Given the description of an element on the screen output the (x, y) to click on. 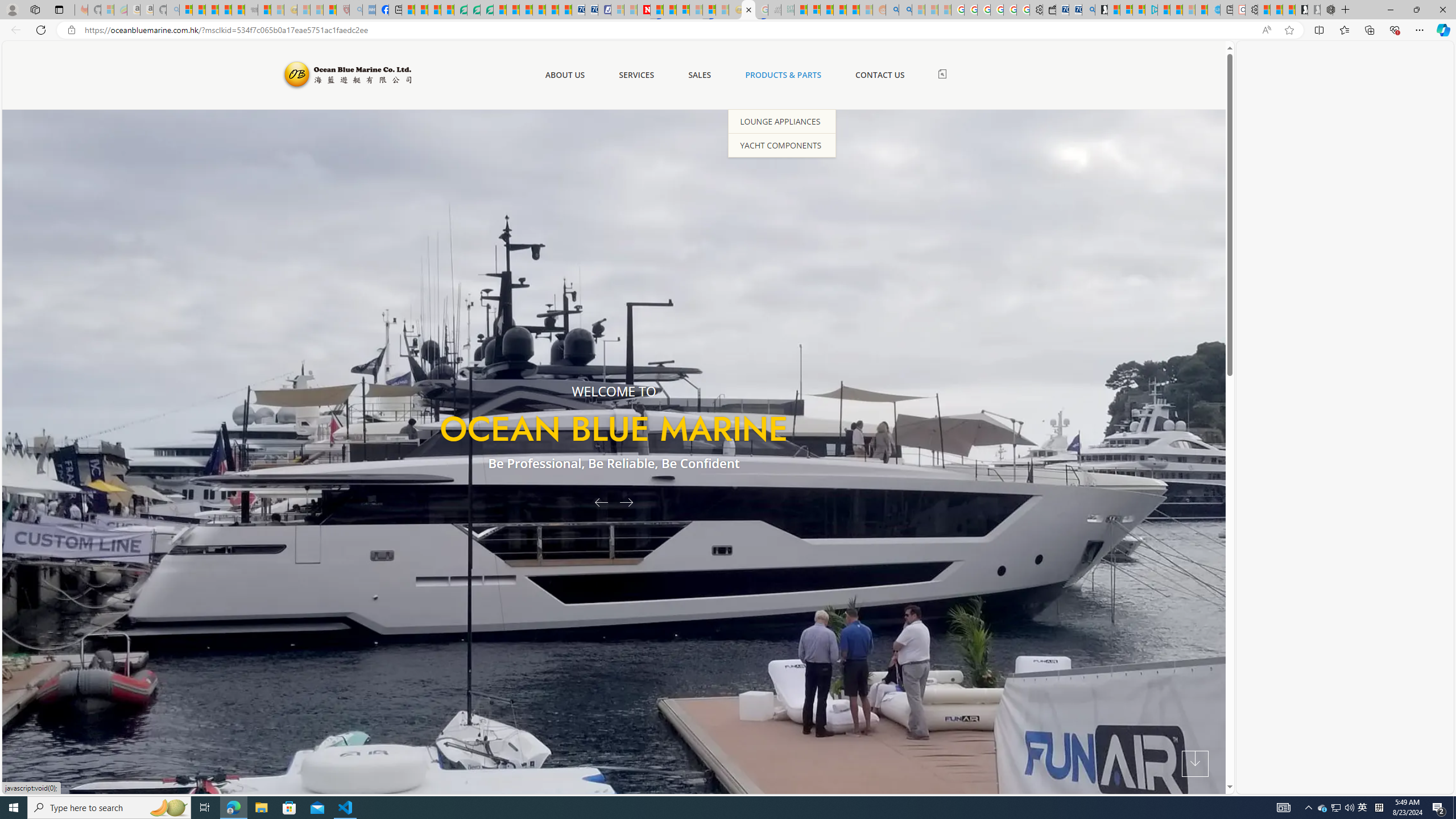
Previous Slide (596, 501)
Play Free Online Games | Games from Microsoft Start (1301, 9)
New Report Confirms 2023 Was Record Hot | Watch (237, 9)
YACHT COMPONENTS (781, 144)
Local - MSN (329, 9)
Cheap Hotels - Save70.com (590, 9)
Home | Sky Blue Bikes - Sky Blue Bikes (1213, 9)
Terms of Use Agreement (473, 9)
Next Slide (630, 501)
